Given the description of an element on the screen output the (x, y) to click on. 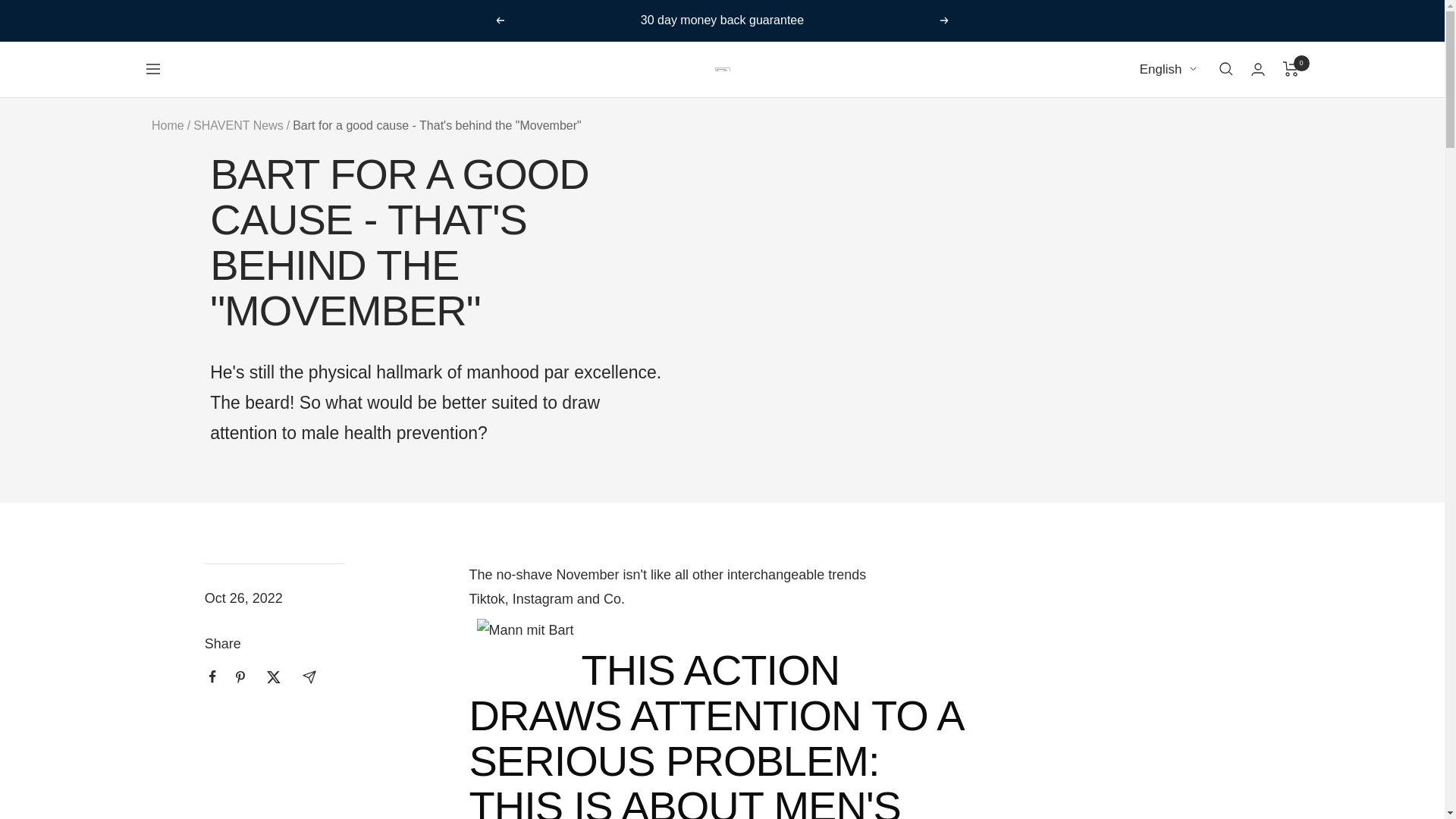
Previous (499, 20)
en (1158, 154)
Home (167, 124)
SHAVENT (721, 68)
0 (1290, 68)
de (1158, 125)
Next (944, 20)
English (1168, 69)
SHAVENT News (238, 124)
Navigation (151, 68)
